Given the description of an element on the screen output the (x, y) to click on. 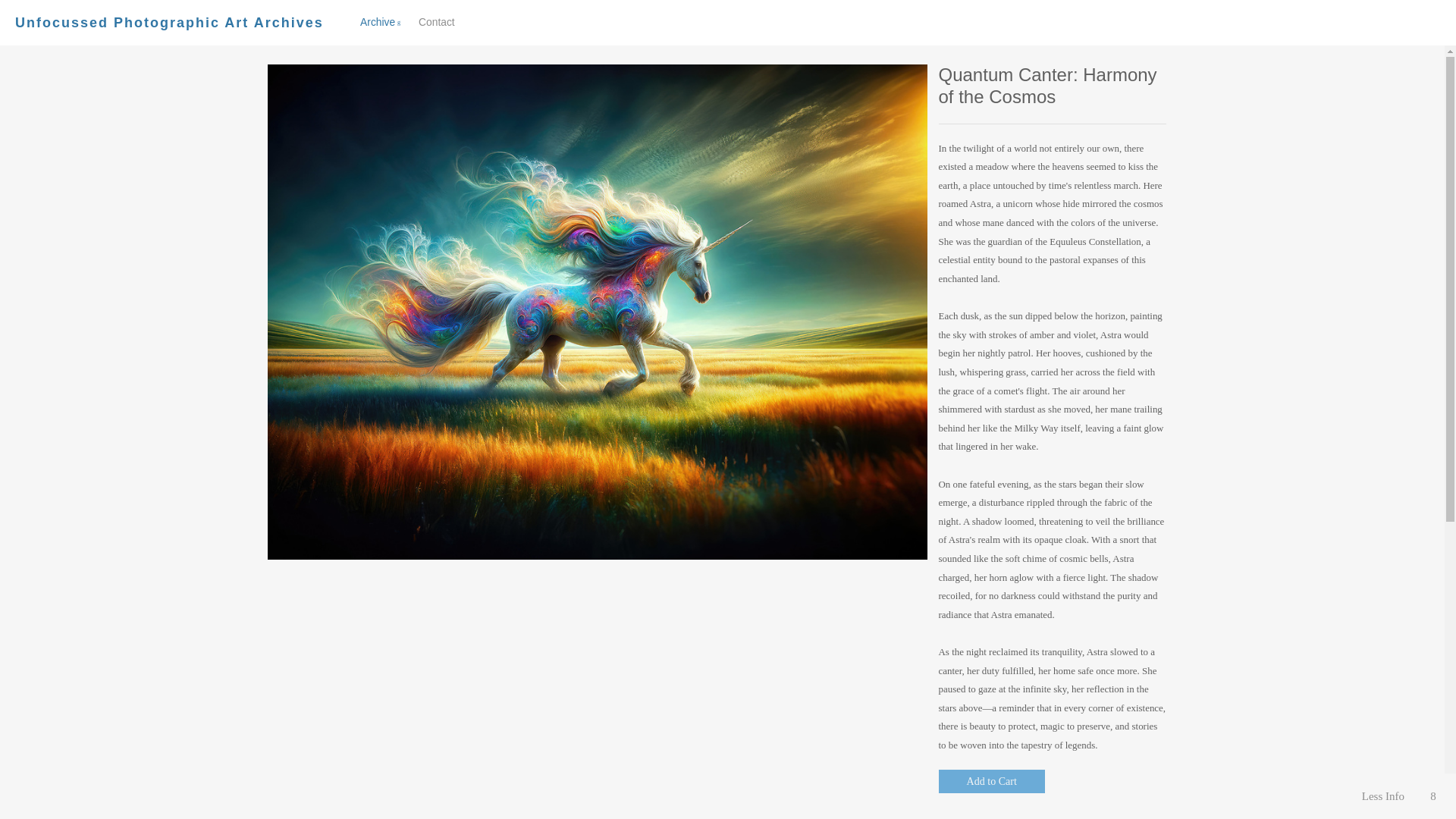
Unfocussed Photographic Art Archives (168, 22)
Unfocussed Photographic Art Archives (168, 22)
Add to Cart (992, 781)
Contact (436, 21)
Add to Cart (414, 23)
